Given the description of an element on the screen output the (x, y) to click on. 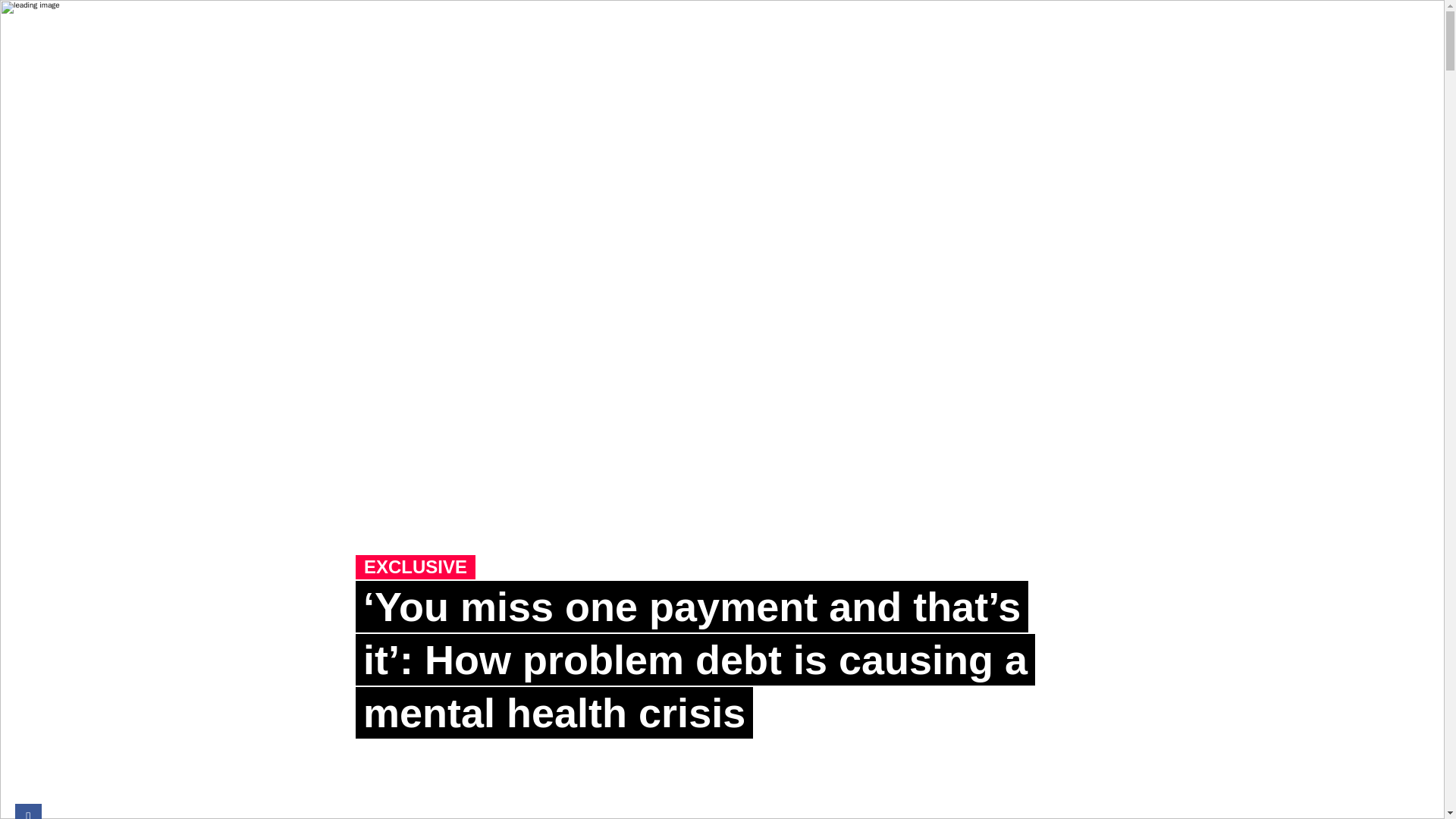
Metro (109, 32)
